Given the description of an element on the screen output the (x, y) to click on. 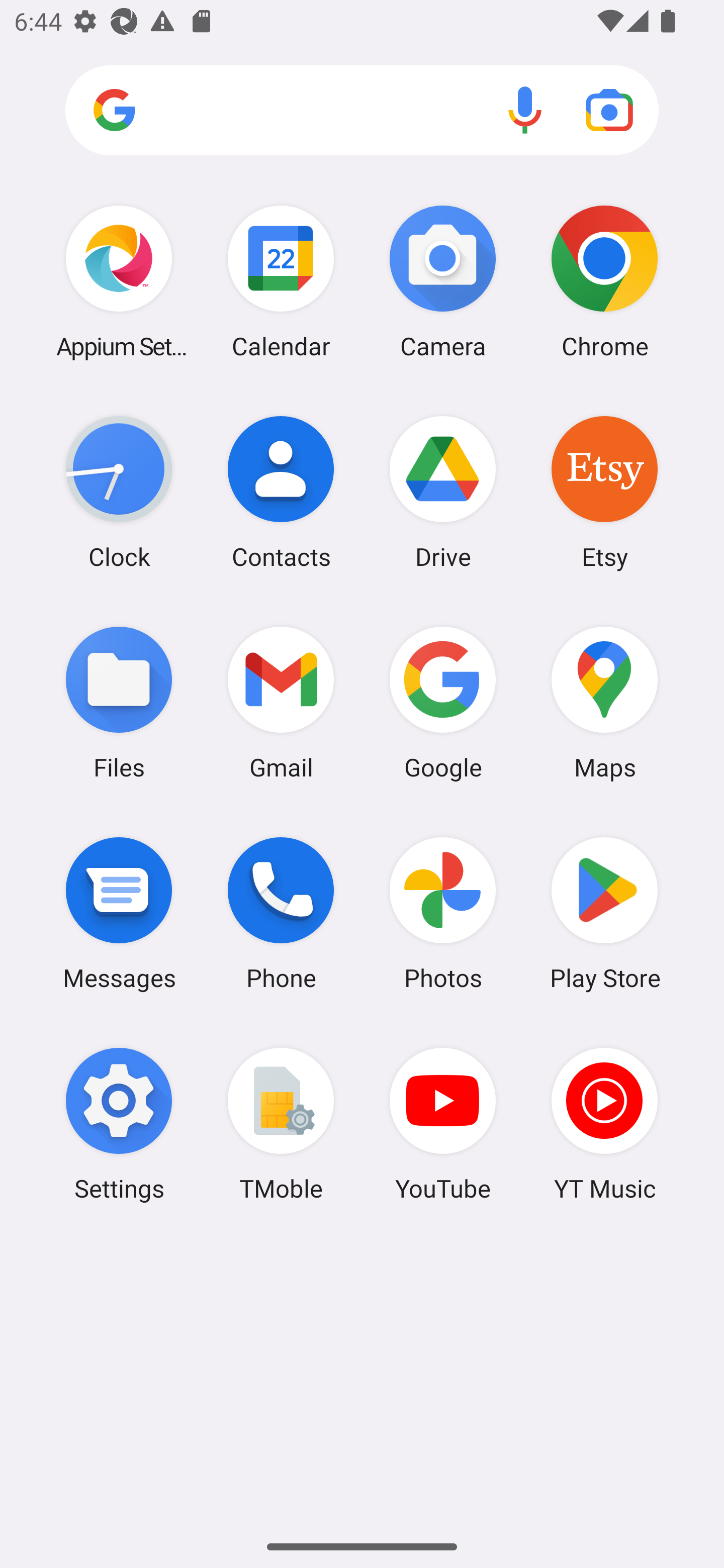
Search apps, web and more (361, 110)
Voice search (524, 109)
Google Lens (608, 109)
Appium Settings (118, 281)
Calendar (280, 281)
Camera (443, 281)
Chrome (604, 281)
Clock (118, 492)
Contacts (280, 492)
Drive (443, 492)
Etsy (604, 492)
Files (118, 702)
Gmail (280, 702)
Google (443, 702)
Maps (604, 702)
Messages (118, 913)
Phone (280, 913)
Photos (443, 913)
Play Store (604, 913)
Settings (118, 1124)
TMoble (280, 1124)
YouTube (443, 1124)
YT Music (604, 1124)
